Given the description of an element on the screen output the (x, y) to click on. 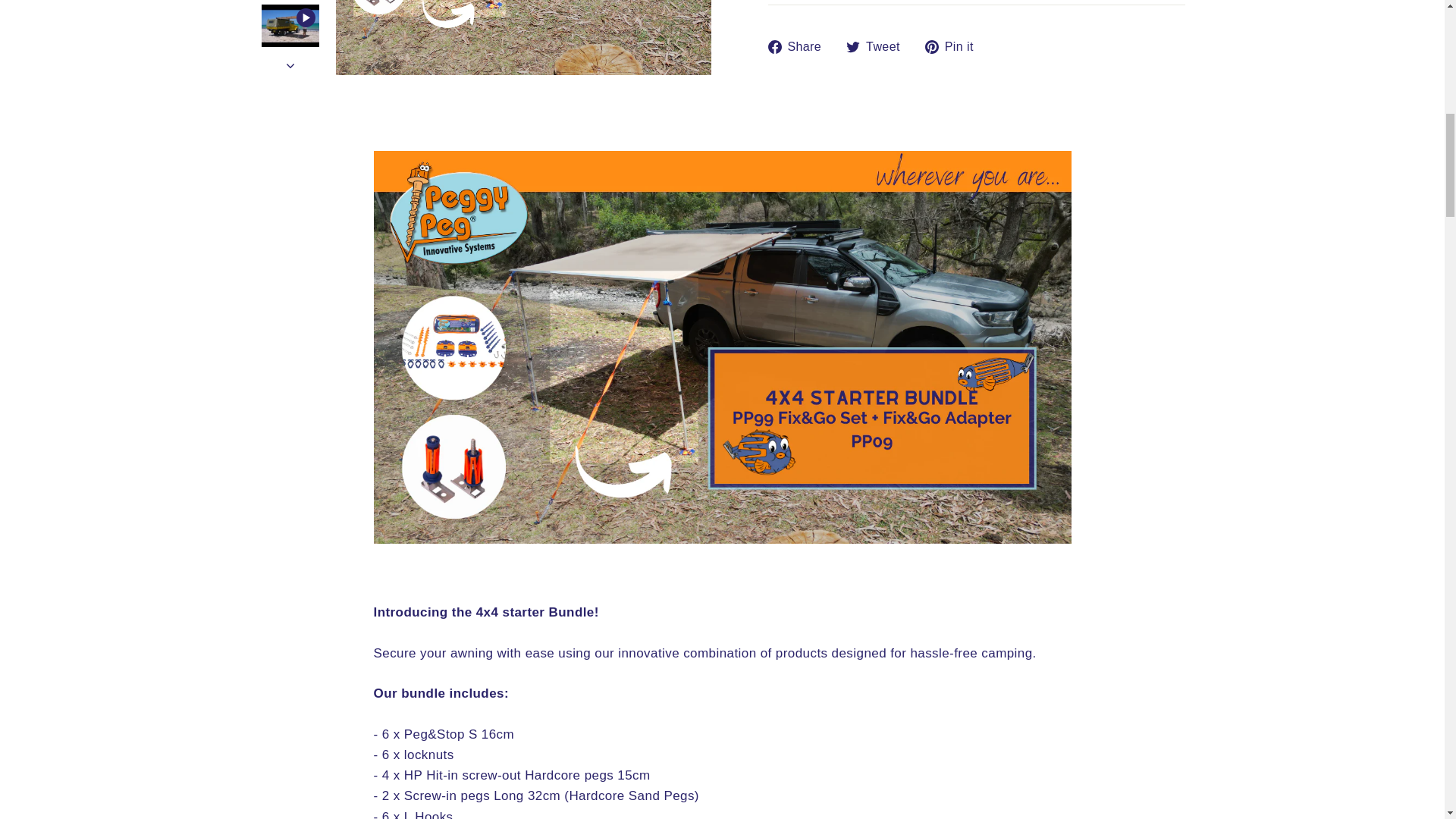
twitter (852, 46)
Share on Facebook (799, 46)
Pin on Pinterest (954, 46)
Tweet on Twitter (878, 46)
